Given the description of an element on the screen output the (x, y) to click on. 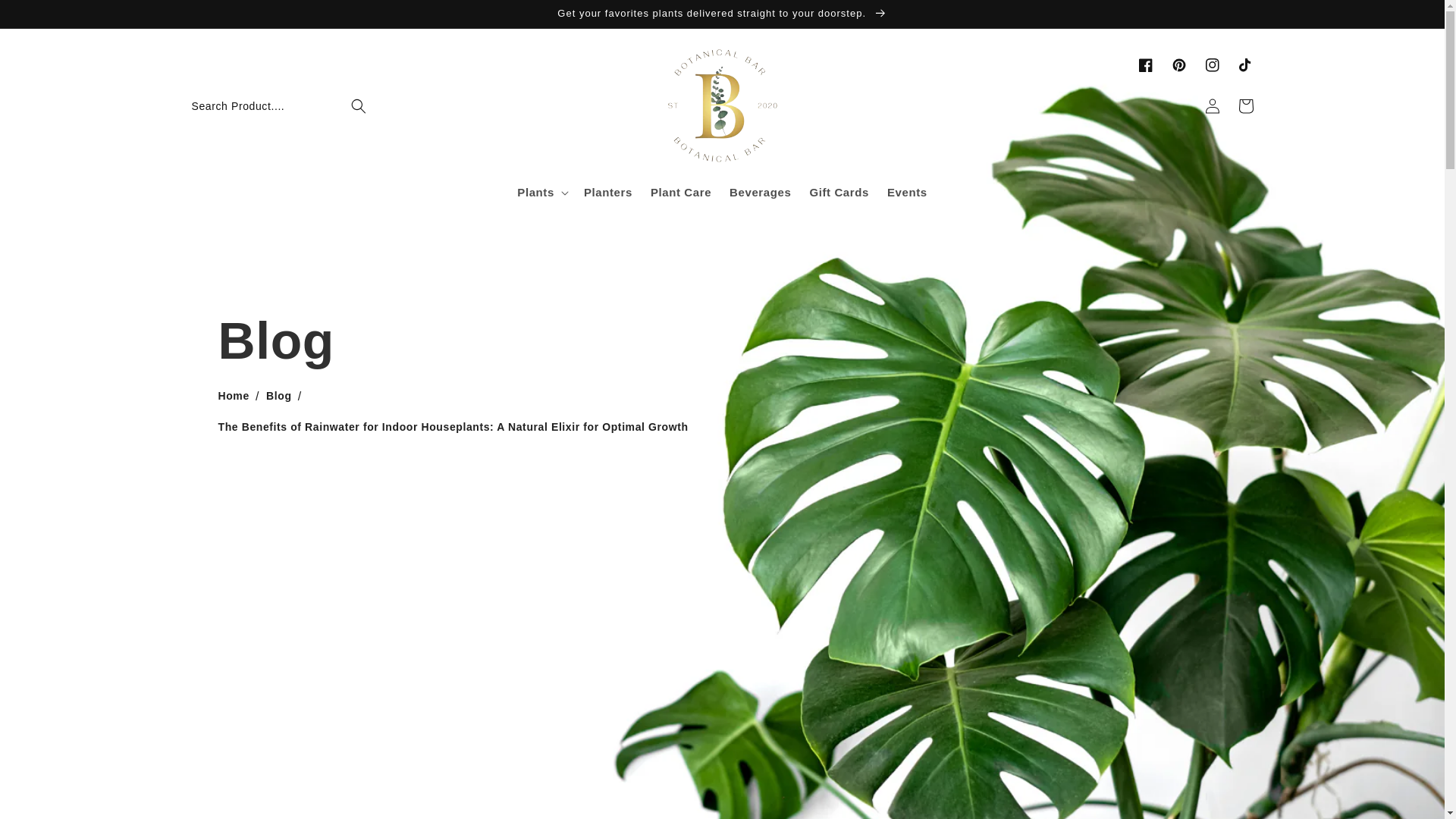
Beverages (759, 192)
Instagram (1211, 64)
Events (906, 192)
Log in (1211, 105)
Gift Cards (838, 192)
Pinterest (1178, 64)
Blog (279, 395)
Home (233, 395)
Facebook (1144, 64)
Plant Care (681, 192)
TikTok (1245, 64)
Cart (1245, 105)
Skip to content (45, 16)
Planters (608, 192)
